Given the description of an element on the screen output the (x, y) to click on. 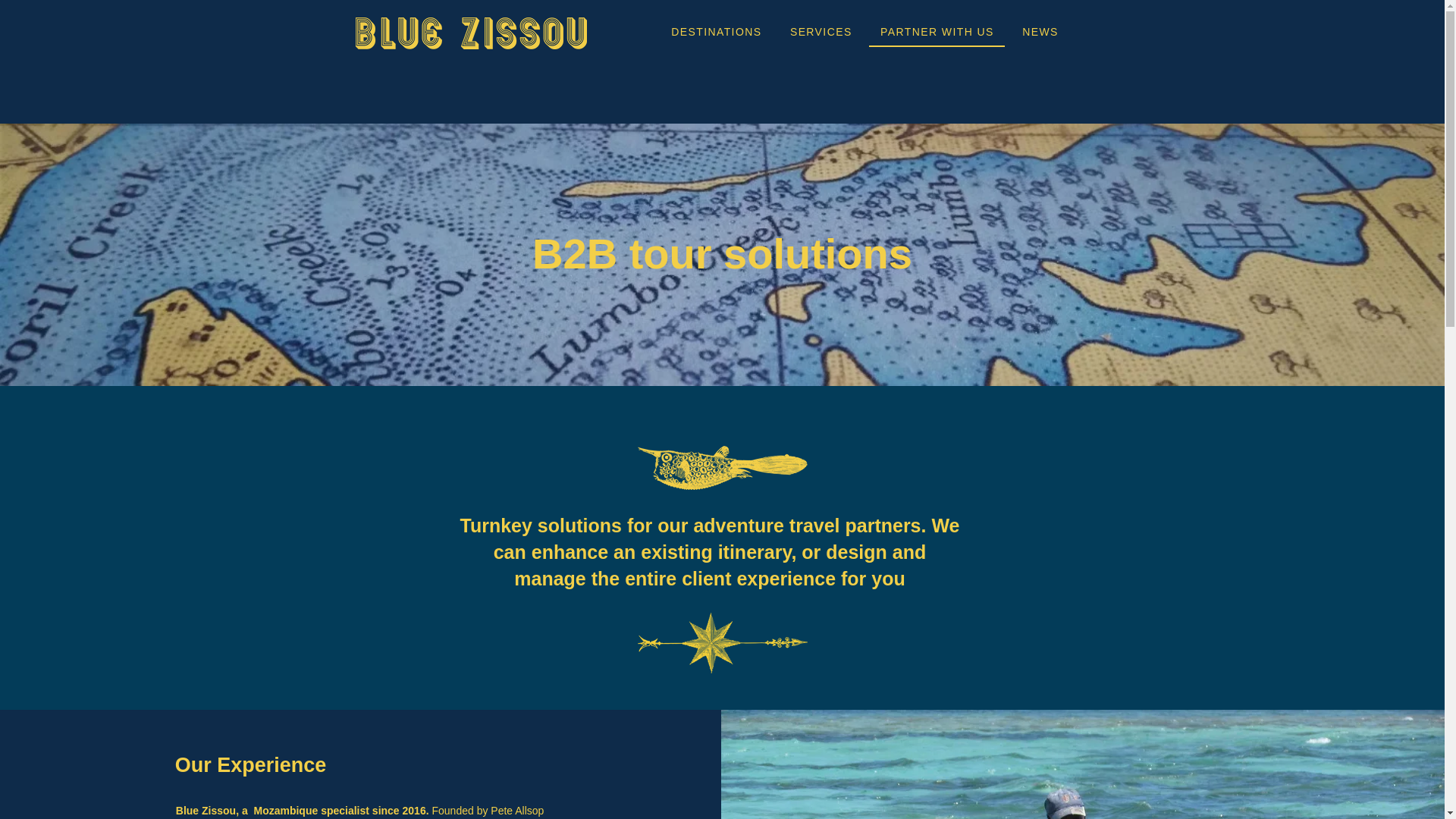
DESTINATIONS (716, 32)
NEWS (1039, 32)
PARTNER WITH US (936, 32)
SERVICES (820, 32)
